Given the description of an element on the screen output the (x, y) to click on. 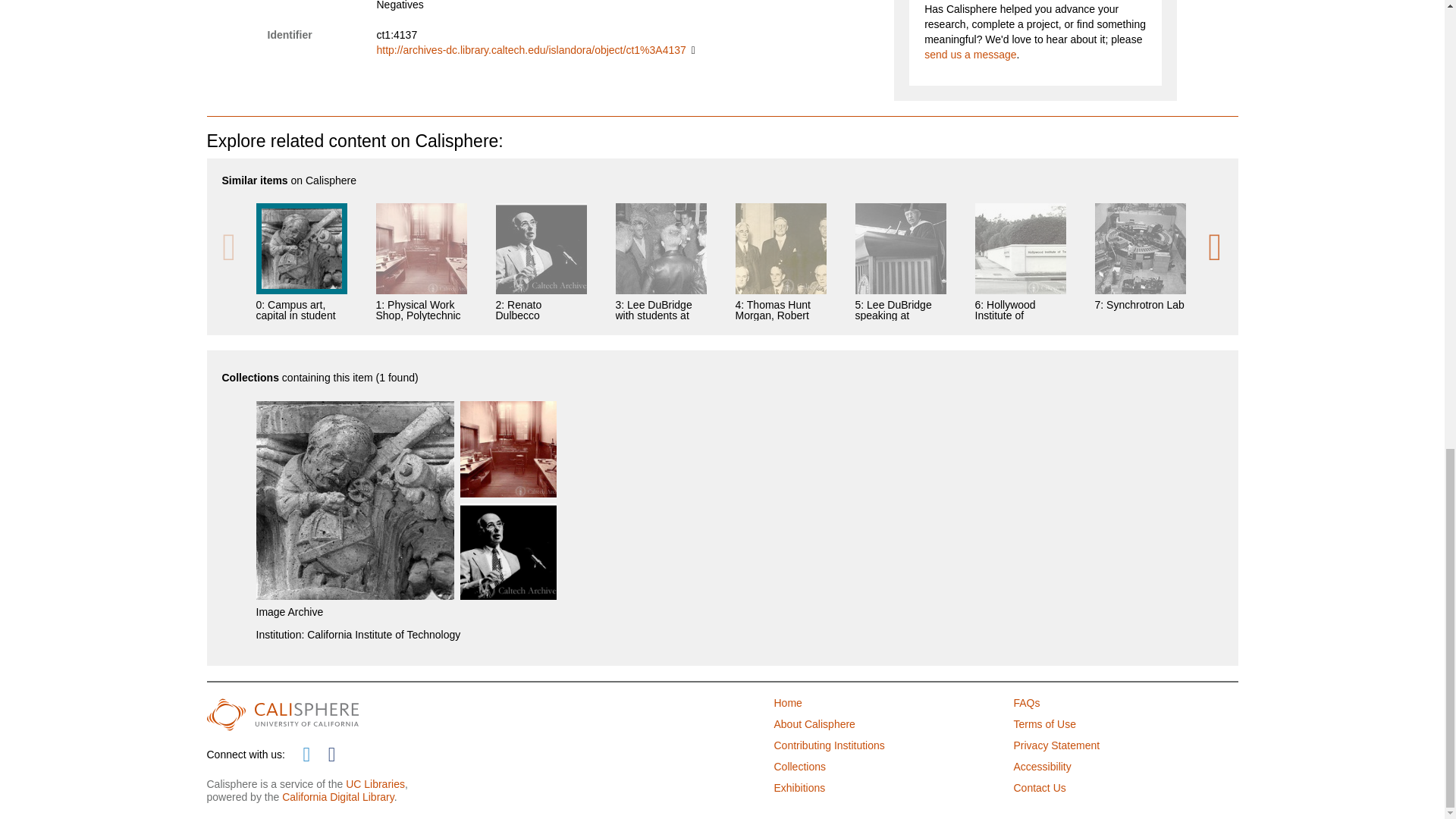
5: Lee DuBridge speaking at Charter Day at UC Berkeley (901, 262)
4: Thomas Hunt Morgan, Robert Millikan and others (781, 262)
2: Renato Dulbecco (541, 262)
3: Lee DuBridge with students at Freshman Camp (660, 262)
6: Hollywood Institute of Technology (1020, 262)
Previous (228, 247)
send us a message (970, 54)
7: Synchrotron Lab (1140, 262)
